Given the description of an element on the screen output the (x, y) to click on. 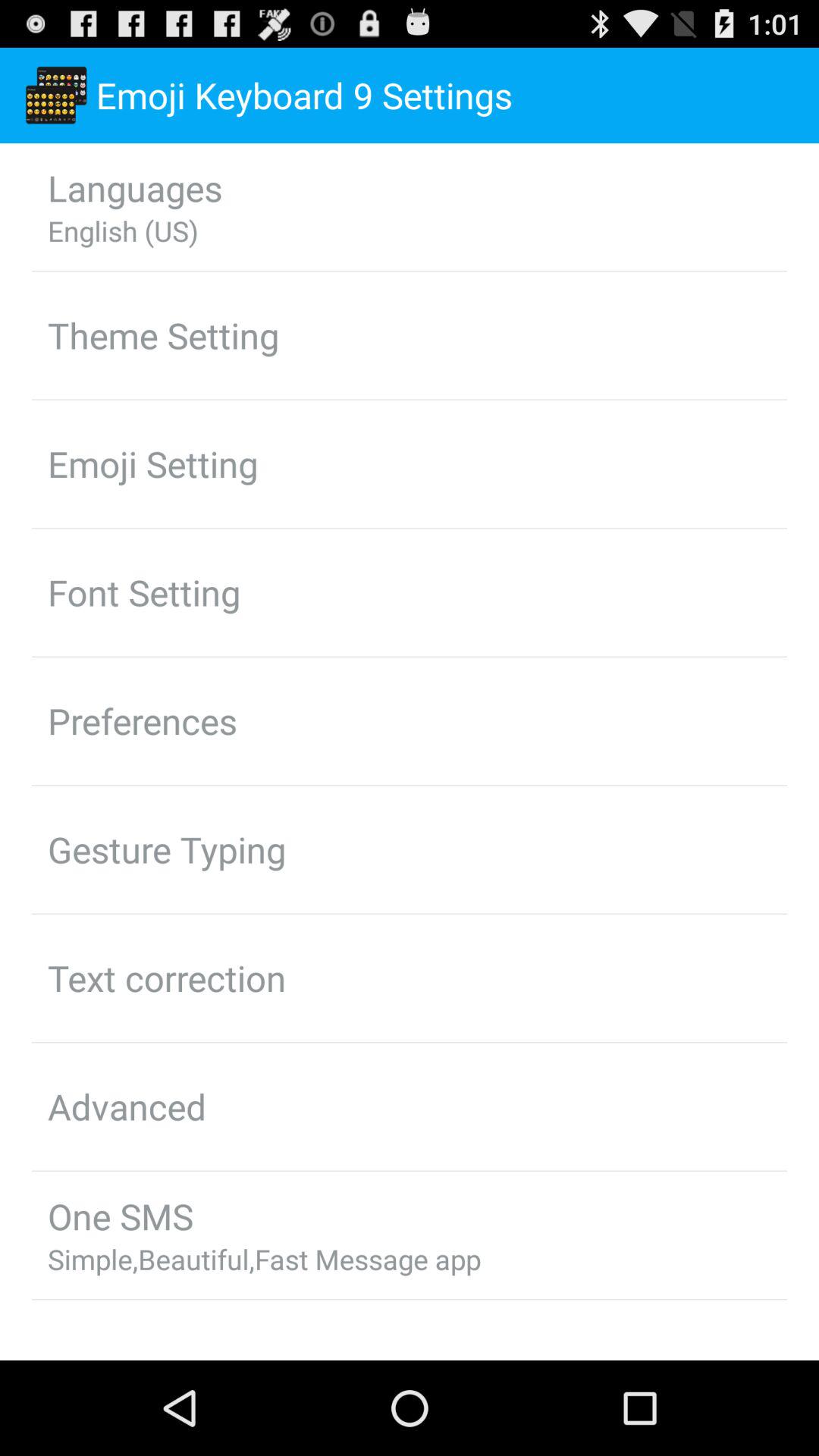
jump until the one sms (120, 1216)
